Given the description of an element on the screen output the (x, y) to click on. 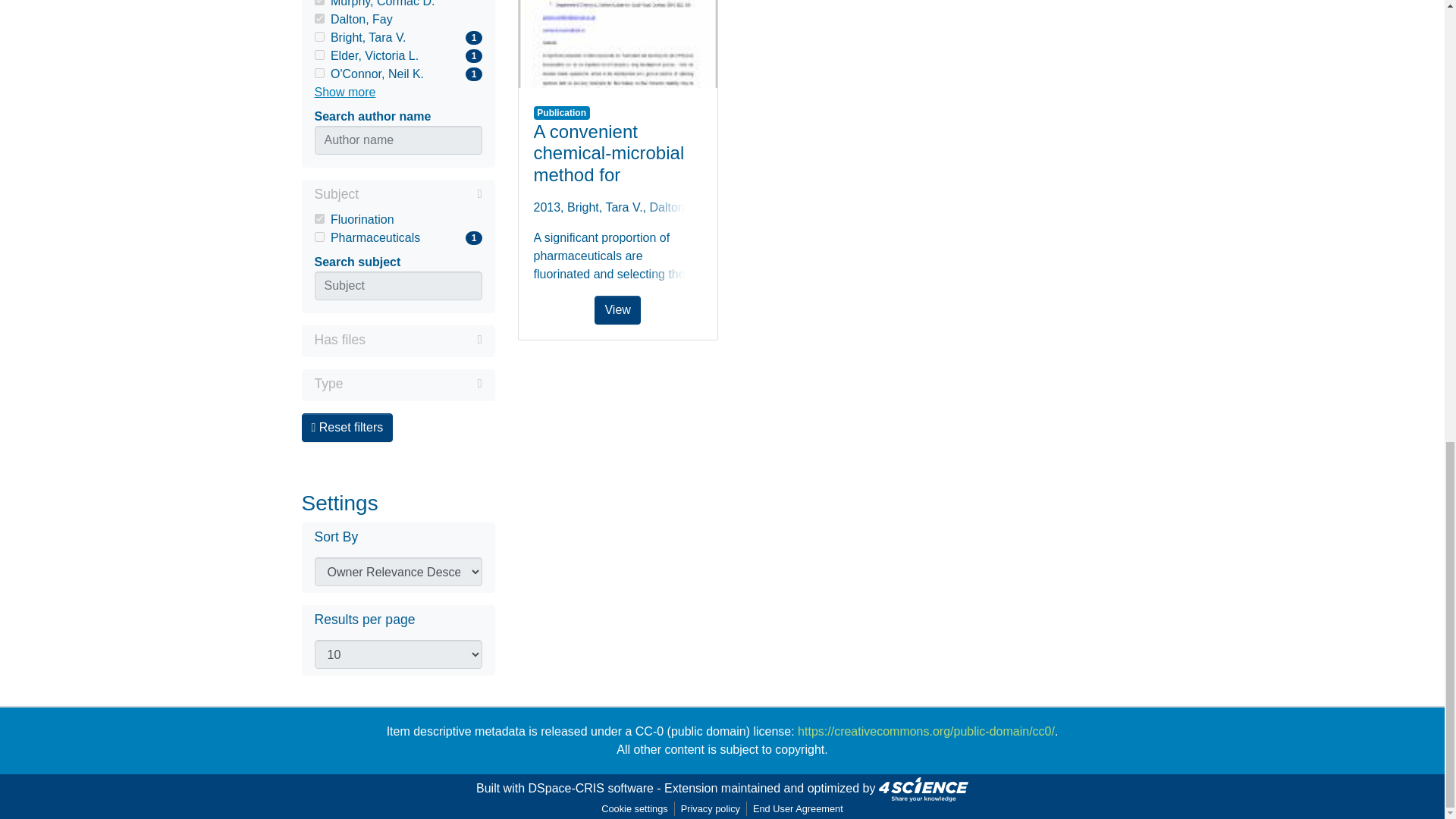
Expand filter (397, 55)
Dalton, Fay (423, 339)
Murphy, Cormac D. (397, 74)
on (397, 19)
Fluorination (397, 5)
on (397, 37)
on (318, 54)
on (397, 219)
Show more (318, 2)
on (318, 236)
on (318, 218)
Expand filter (344, 92)
